Given the description of an element on the screen output the (x, y) to click on. 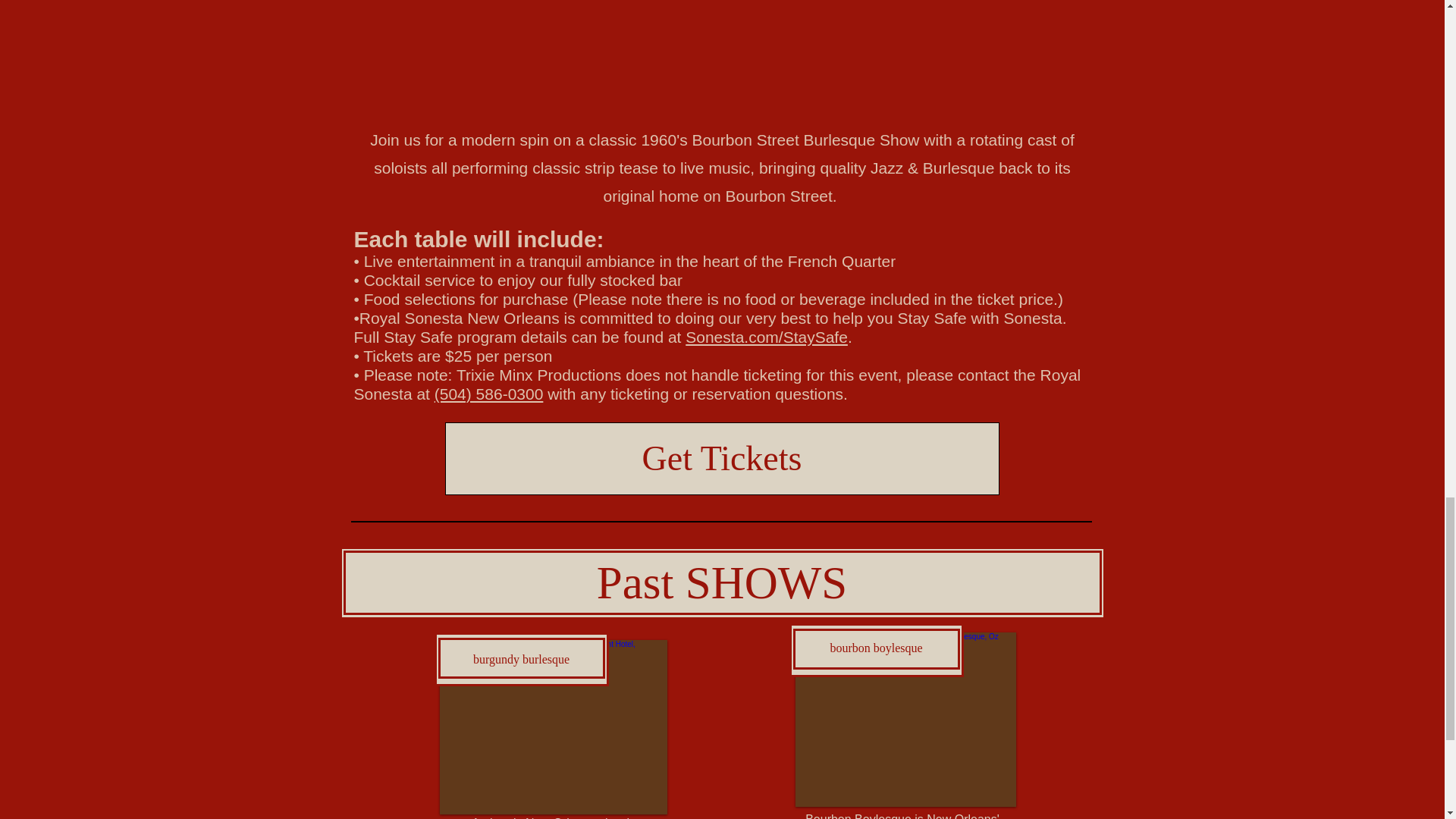
Get Tickets (721, 458)
